Given the description of an element on the screen output the (x, y) to click on. 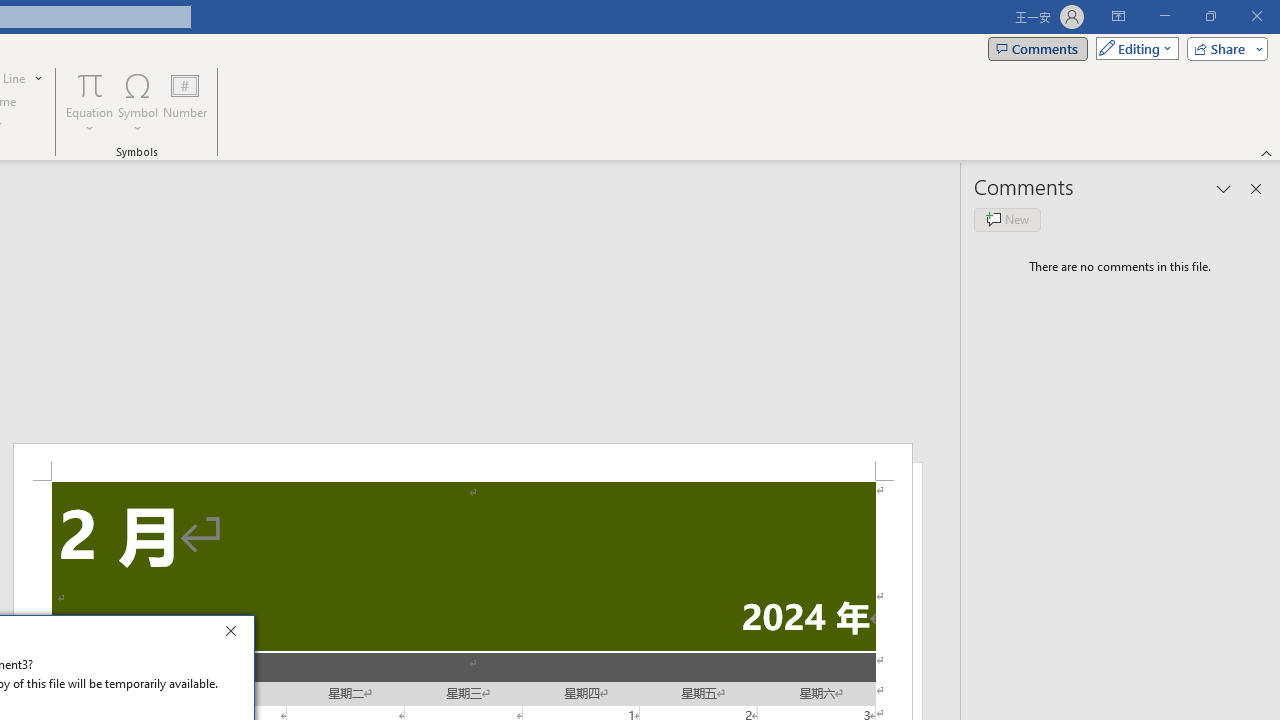
Header -Section 2- (462, 461)
Close (236, 633)
More Options (90, 121)
Minimize (1164, 16)
Close pane (1256, 188)
Restore Down (1210, 16)
Collapse the Ribbon (1267, 152)
Comments (1038, 48)
Ribbon Display Options (1118, 16)
Number... (185, 102)
Task Pane Options (1224, 188)
Equation (90, 84)
Share (1223, 48)
